Given the description of an element on the screen output the (x, y) to click on. 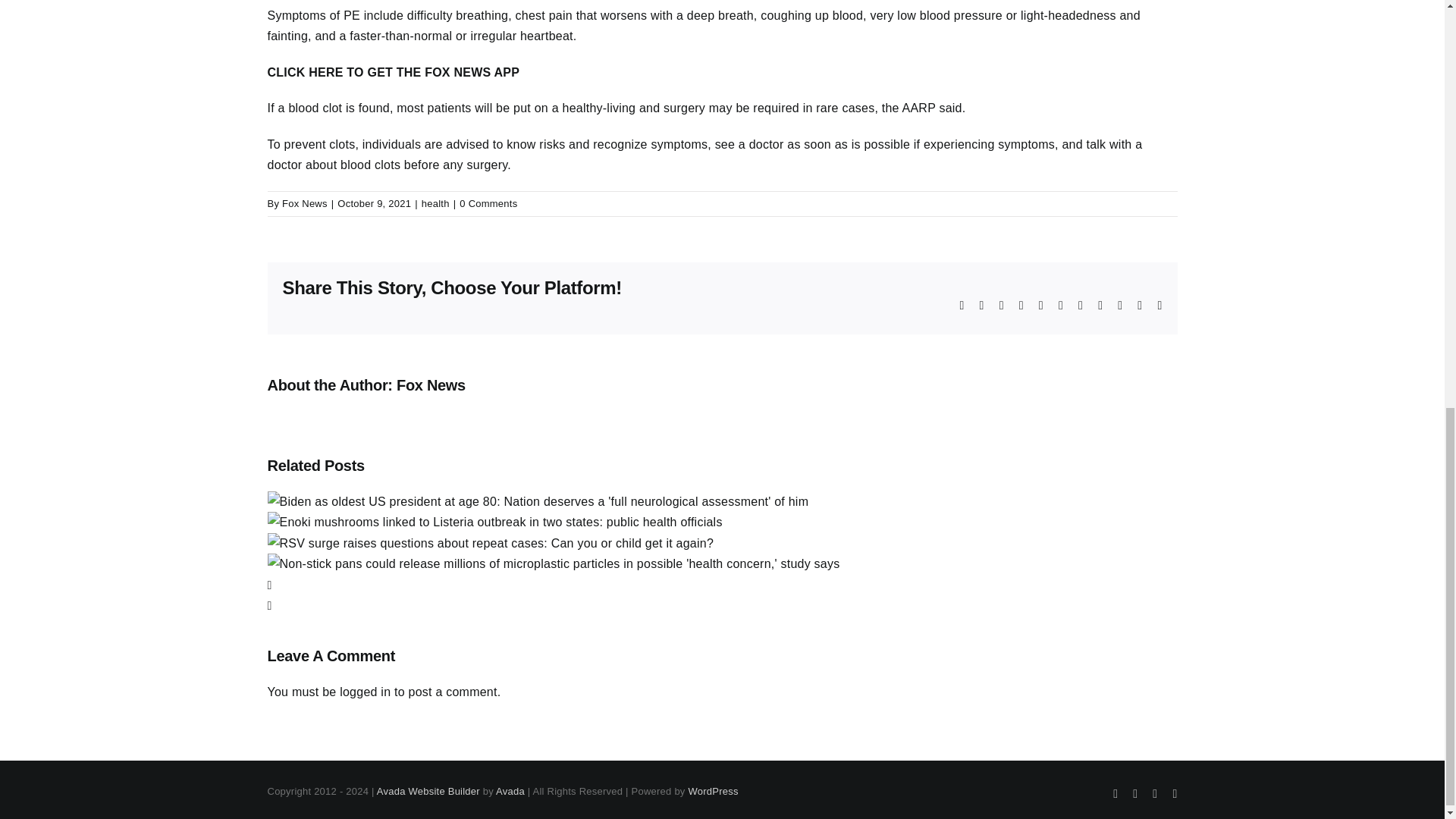
0 Comments (488, 203)
Posts by Fox News (304, 203)
health (435, 203)
healthy-living (599, 107)
Fox News (304, 203)
CLICK HERE TO GET THE FOX NEWS APP (392, 72)
